Given the description of an element on the screen output the (x, y) to click on. 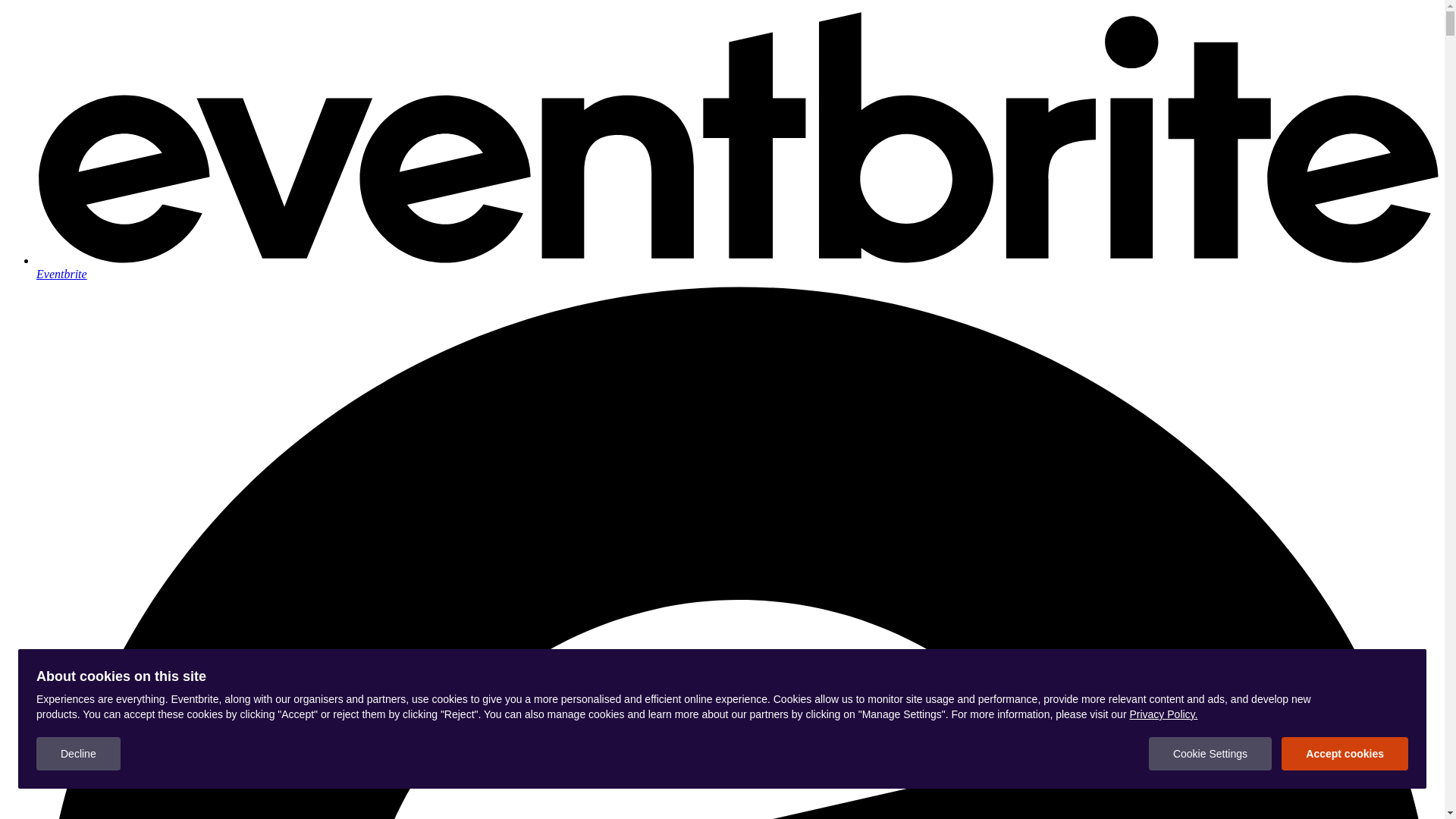
Eventbrite Element type: text (737, 267)
Cookie Settings Element type: text (1209, 753)
Privacy Policy. Element type: text (1163, 714)
Accept cookies Element type: text (1344, 753)
Decline Element type: text (78, 753)
